Given the description of an element on the screen output the (x, y) to click on. 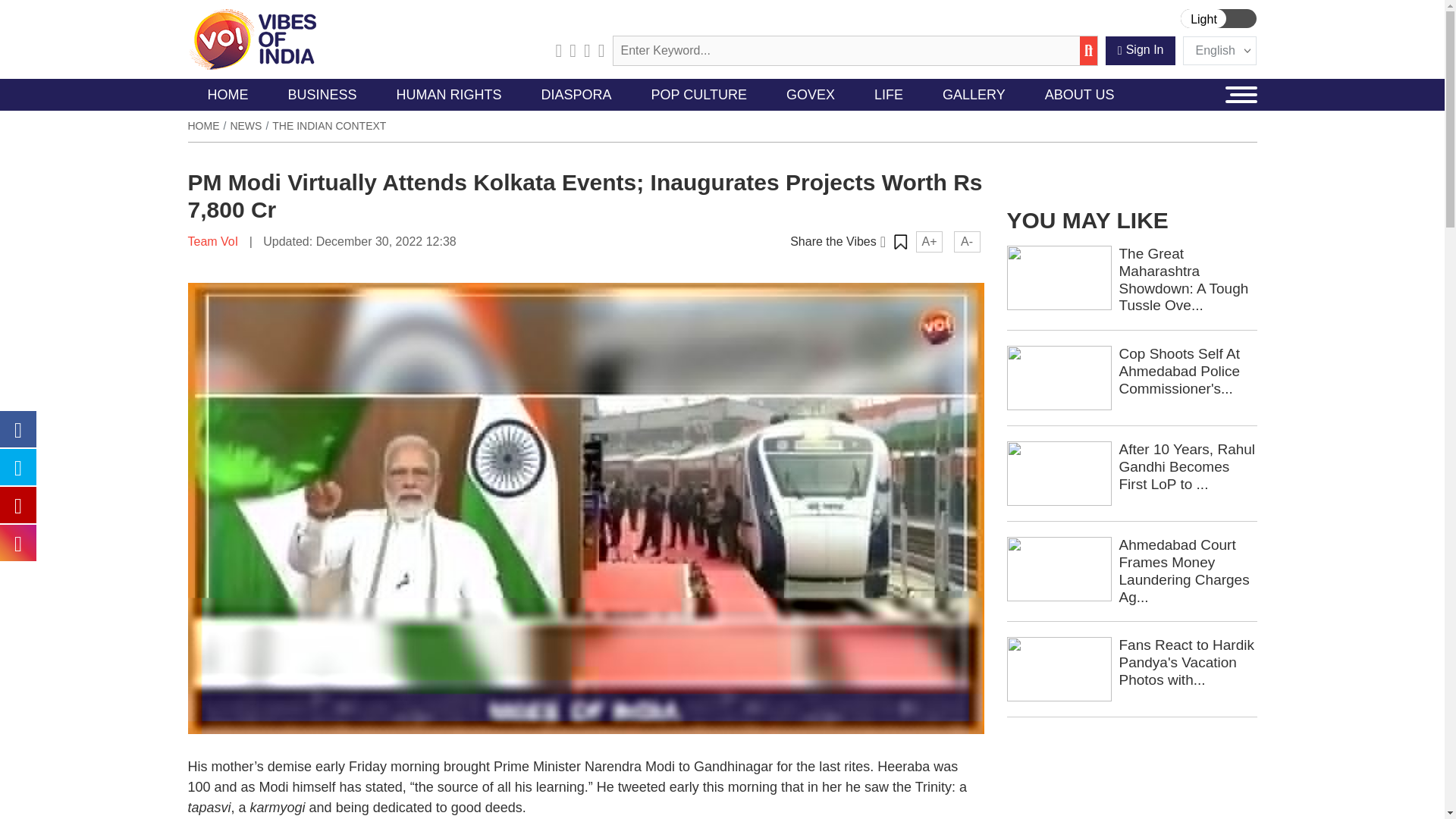
Vibes of India (251, 38)
HUMAN RIGHTS (449, 94)
The Great Maharashtra Showdown: A Tough Tussle Over Three Ts (1059, 277)
GALLERY (974, 94)
Vibes of India (251, 39)
LIFE (888, 94)
ABOUT US (1079, 94)
BUSINESS (322, 94)
GOVEX (810, 94)
